Given the description of an element on the screen output the (x, y) to click on. 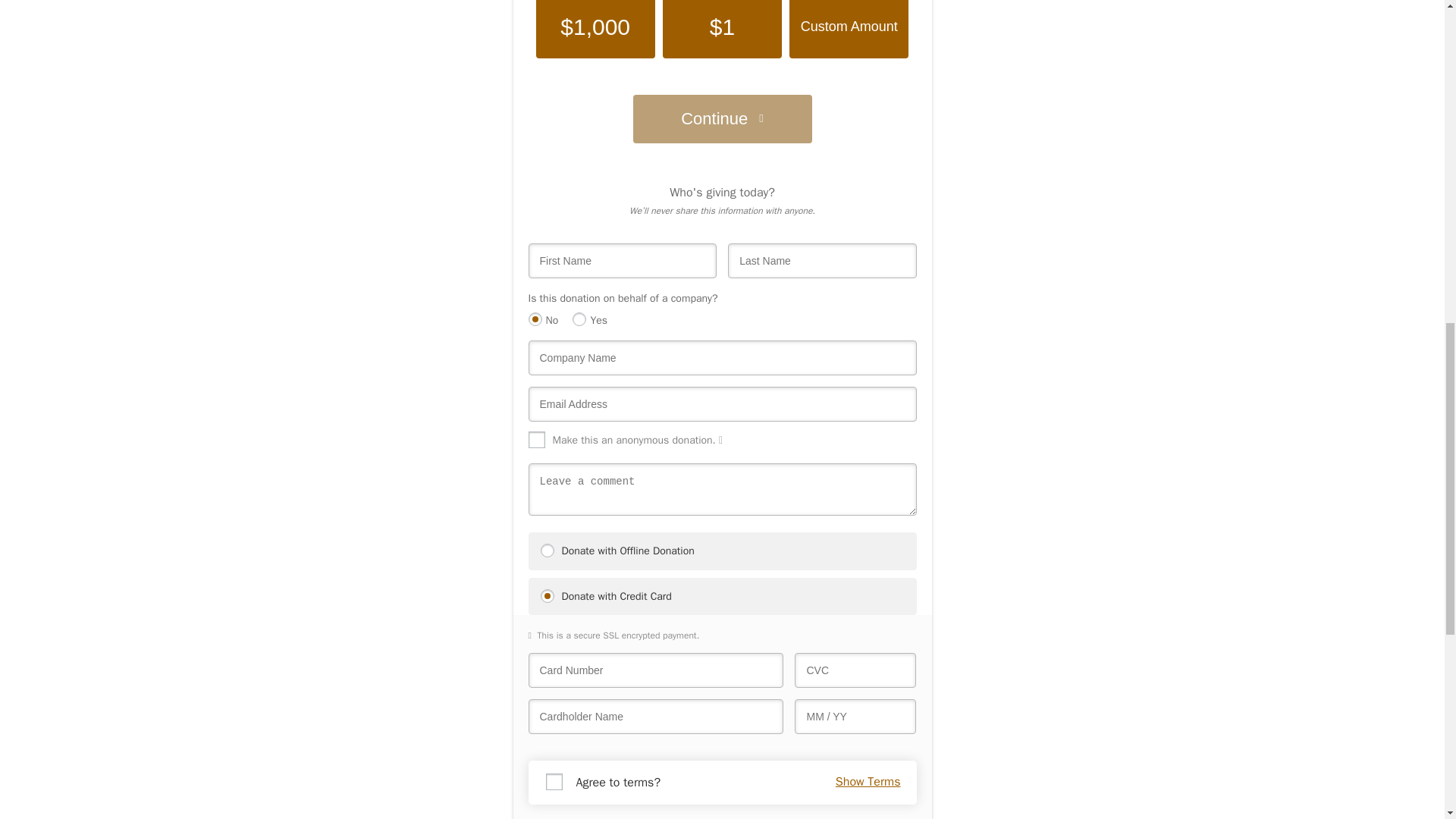
Custom Amount (848, 29)
Show Terms (868, 781)
Continue (720, 119)
